Given the description of an element on the screen output the (x, y) to click on. 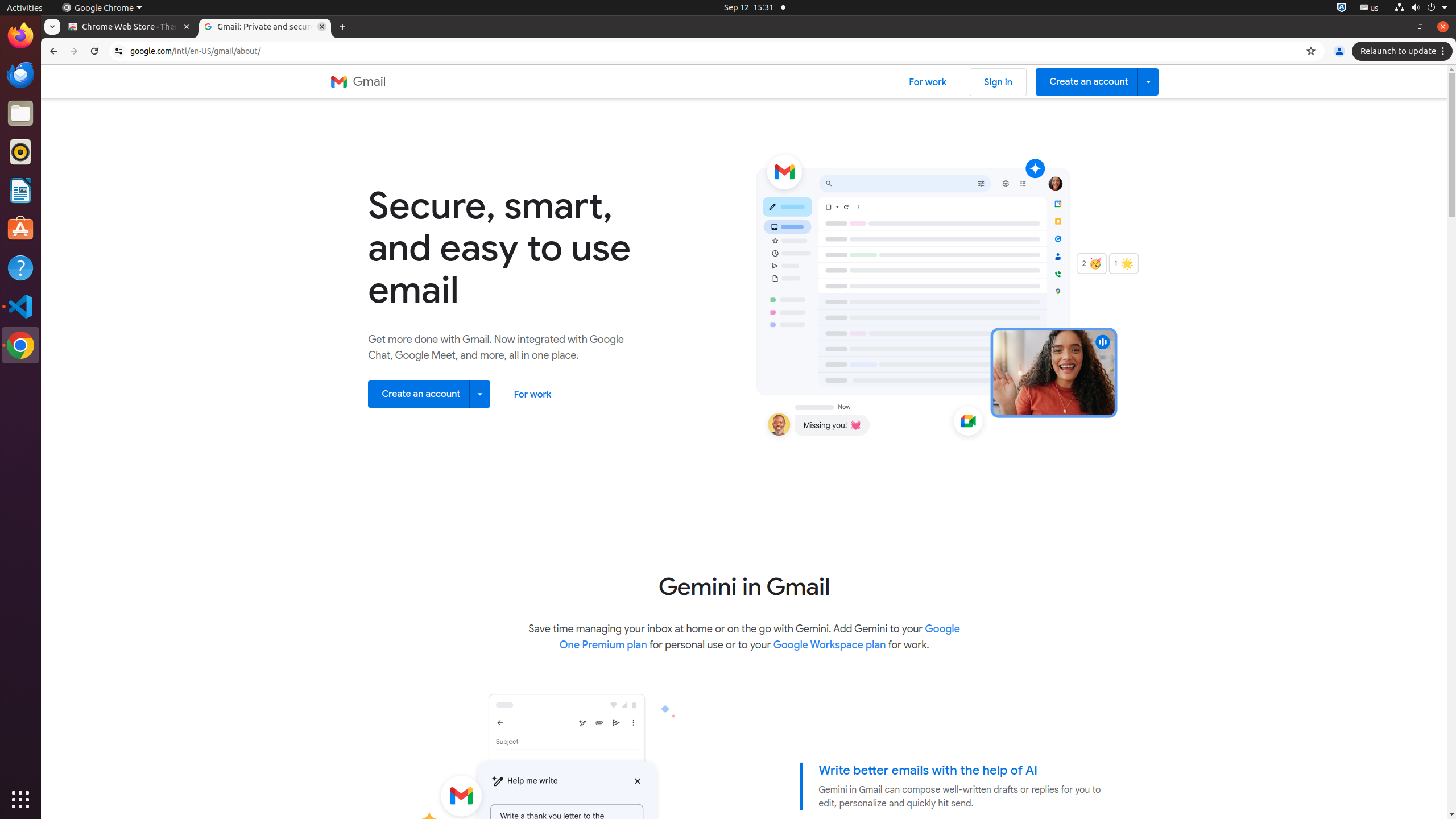
Reload Element type: push-button (94, 50)
Files Element type: push-button (20, 113)
Thunderbird Mail Element type: push-button (20, 74)
Show Applications Element type: toggle-button (20, 799)
Visual Studio Code Element type: push-button (20, 306)
